Given the description of an element on the screen output the (x, y) to click on. 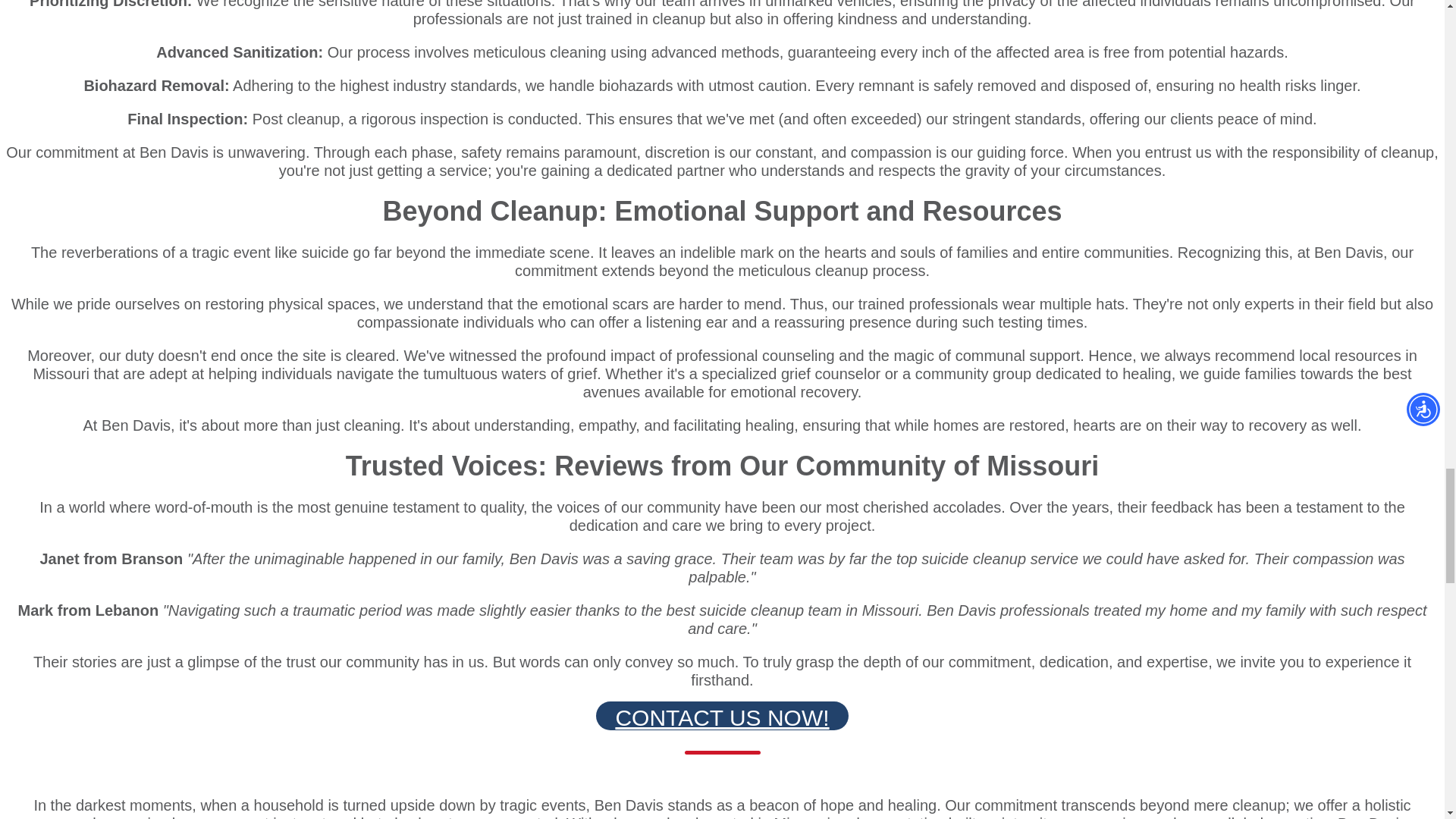
CONTACT US NOW! (721, 715)
